Given the description of an element on the screen output the (x, y) to click on. 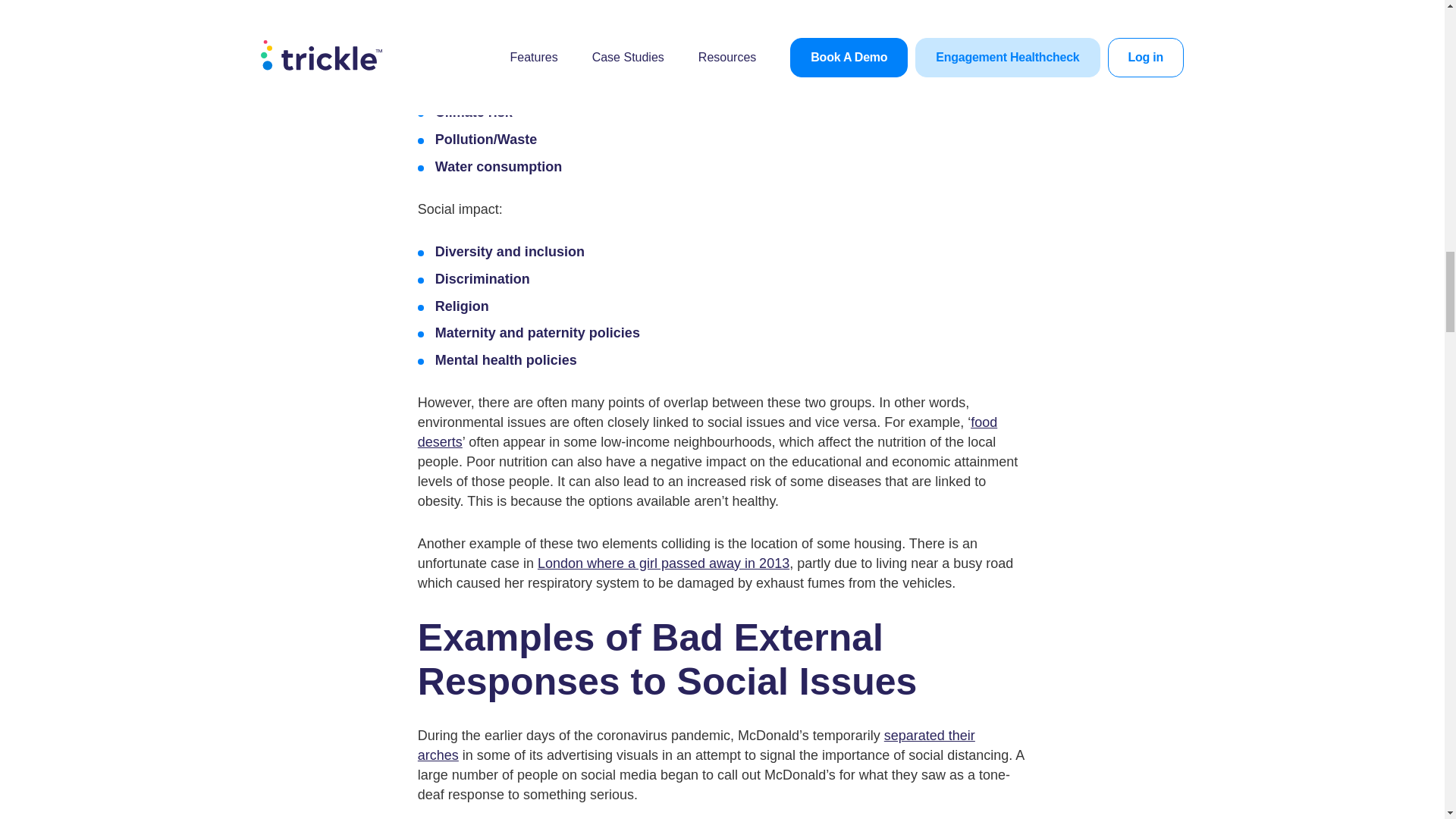
London where a girl passed away in 2013 (663, 563)
food deserts (707, 431)
separated their arches (696, 745)
